Given the description of an element on the screen output the (x, y) to click on. 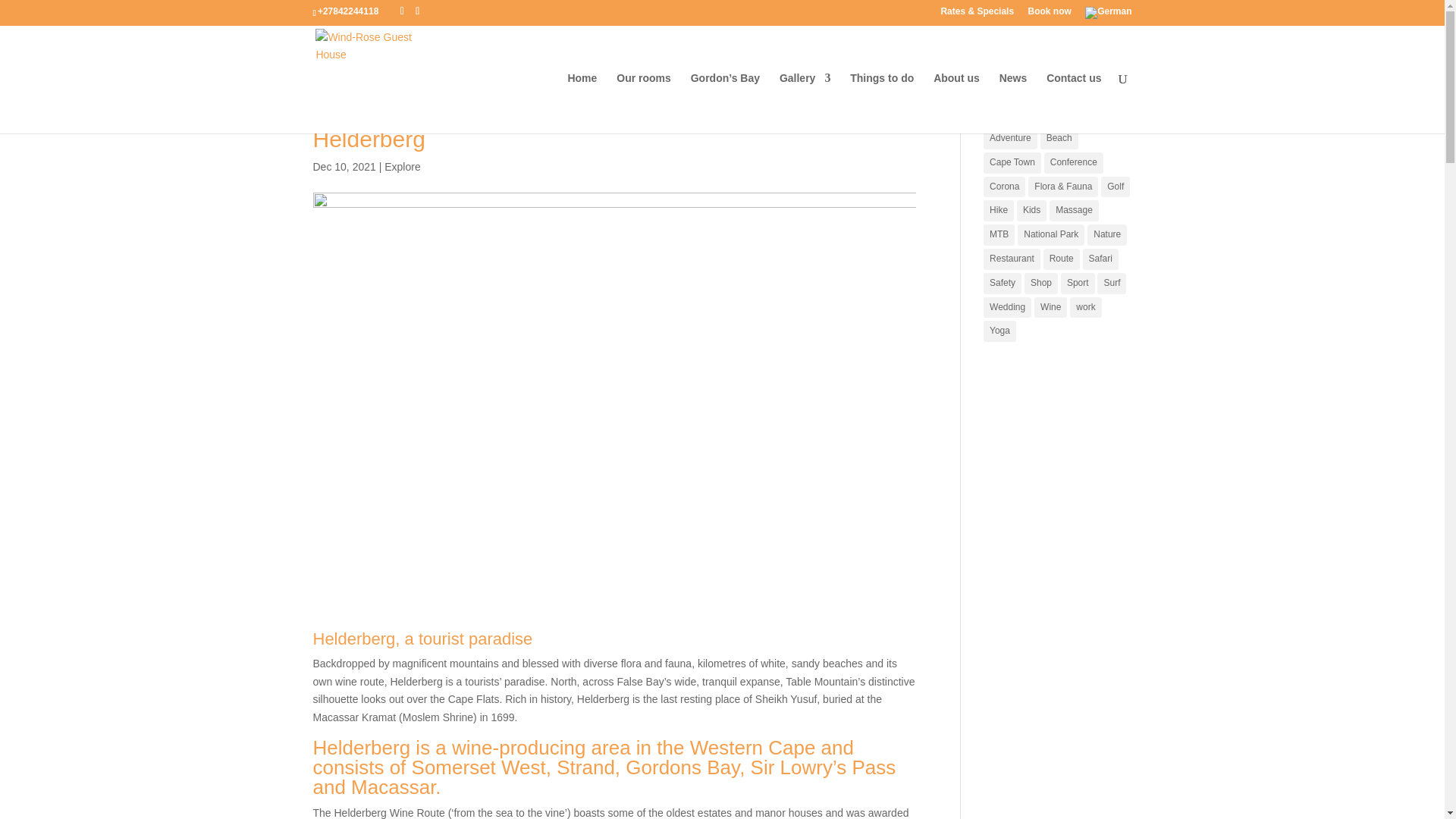
Contact us (1073, 102)
Book now (1048, 14)
Gordons Bay (682, 766)
Explore (402, 166)
Things to do (882, 102)
Our rooms (643, 102)
